Given the description of an element on the screen output the (x, y) to click on. 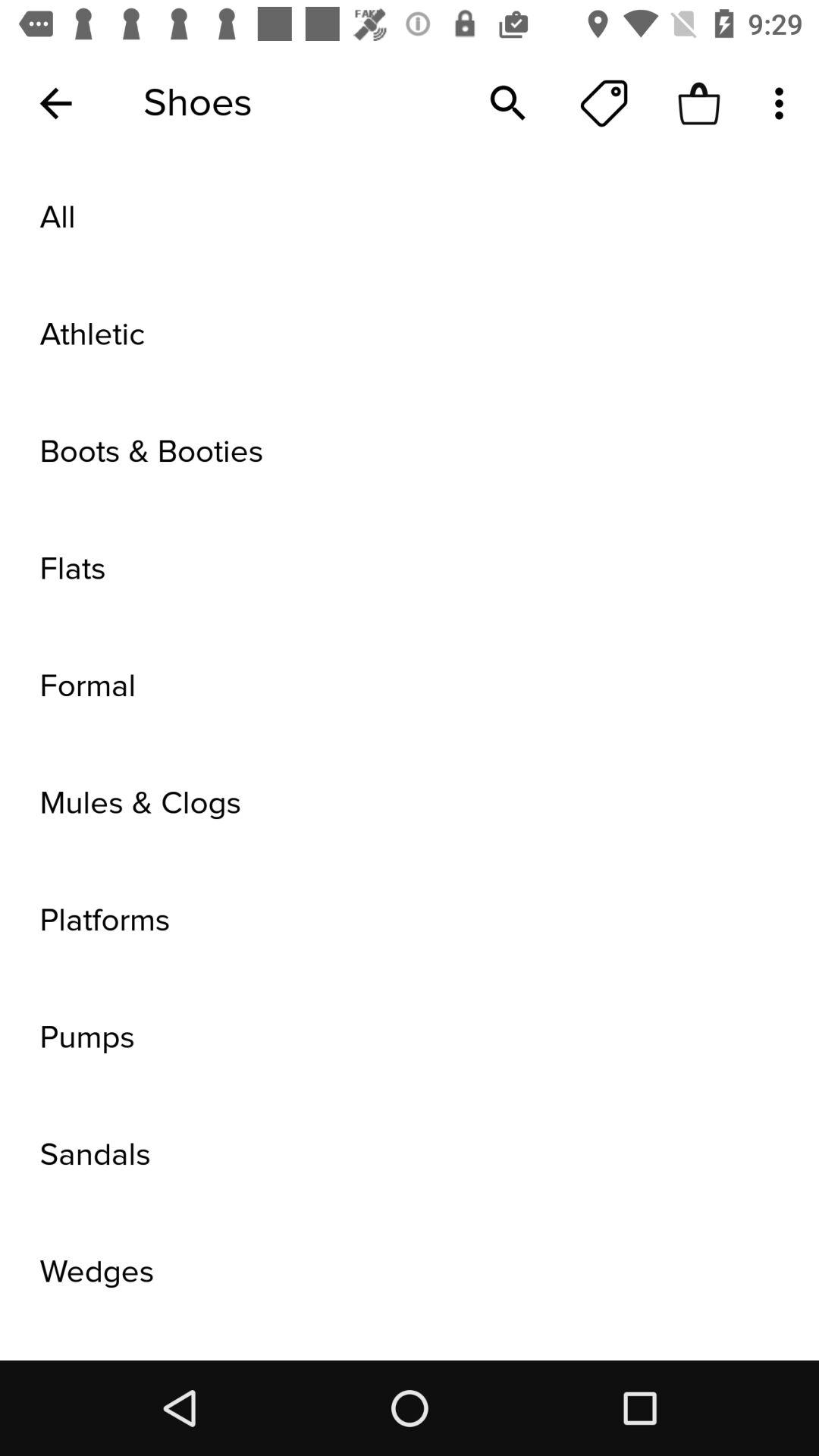
select icon above the boots & booties (409, 334)
